Given the description of an element on the screen output the (x, y) to click on. 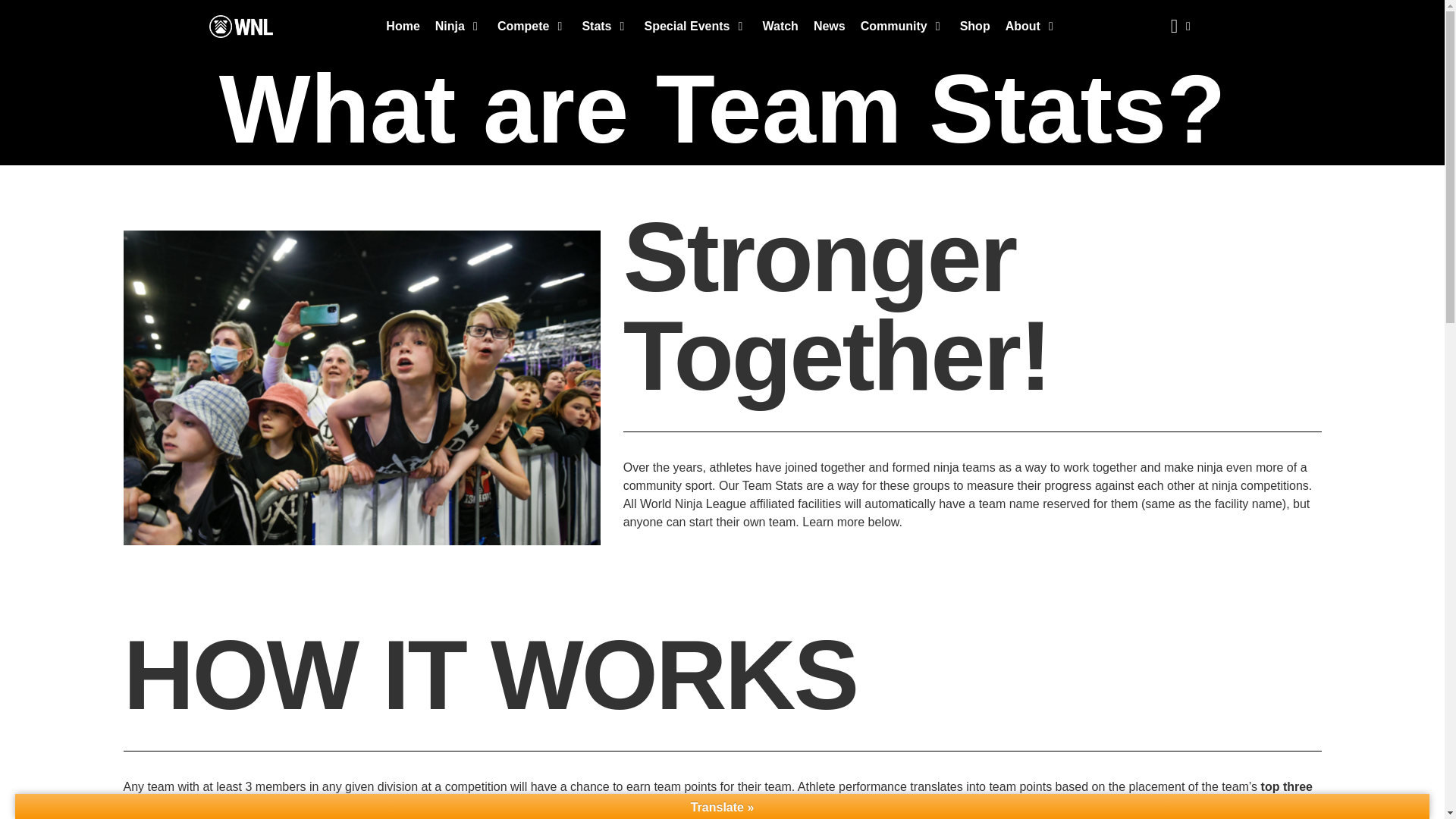
Compete (522, 26)
Home (402, 26)
Ninja (449, 26)
